Given the description of an element on the screen output the (x, y) to click on. 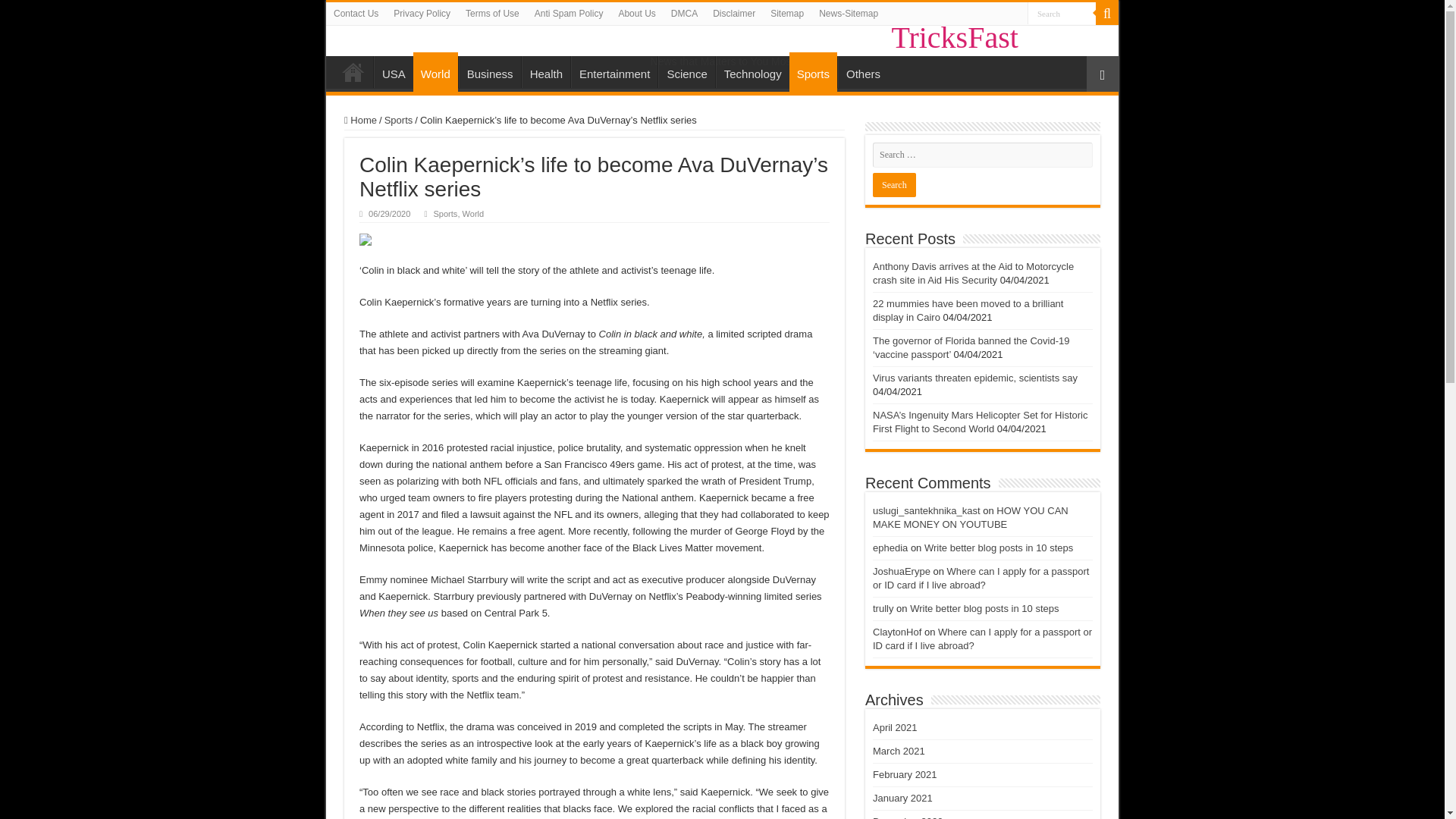
Search (893, 184)
Science (686, 71)
Business (489, 71)
Technology (752, 71)
Privacy Policy (421, 13)
DMCA (683, 13)
Sports (398, 120)
Sports (813, 71)
World (435, 71)
Search (1061, 13)
Others (863, 71)
Home (360, 120)
Terms of Use (492, 13)
News-Sitemap (847, 13)
Home (352, 71)
